Given the description of an element on the screen output the (x, y) to click on. 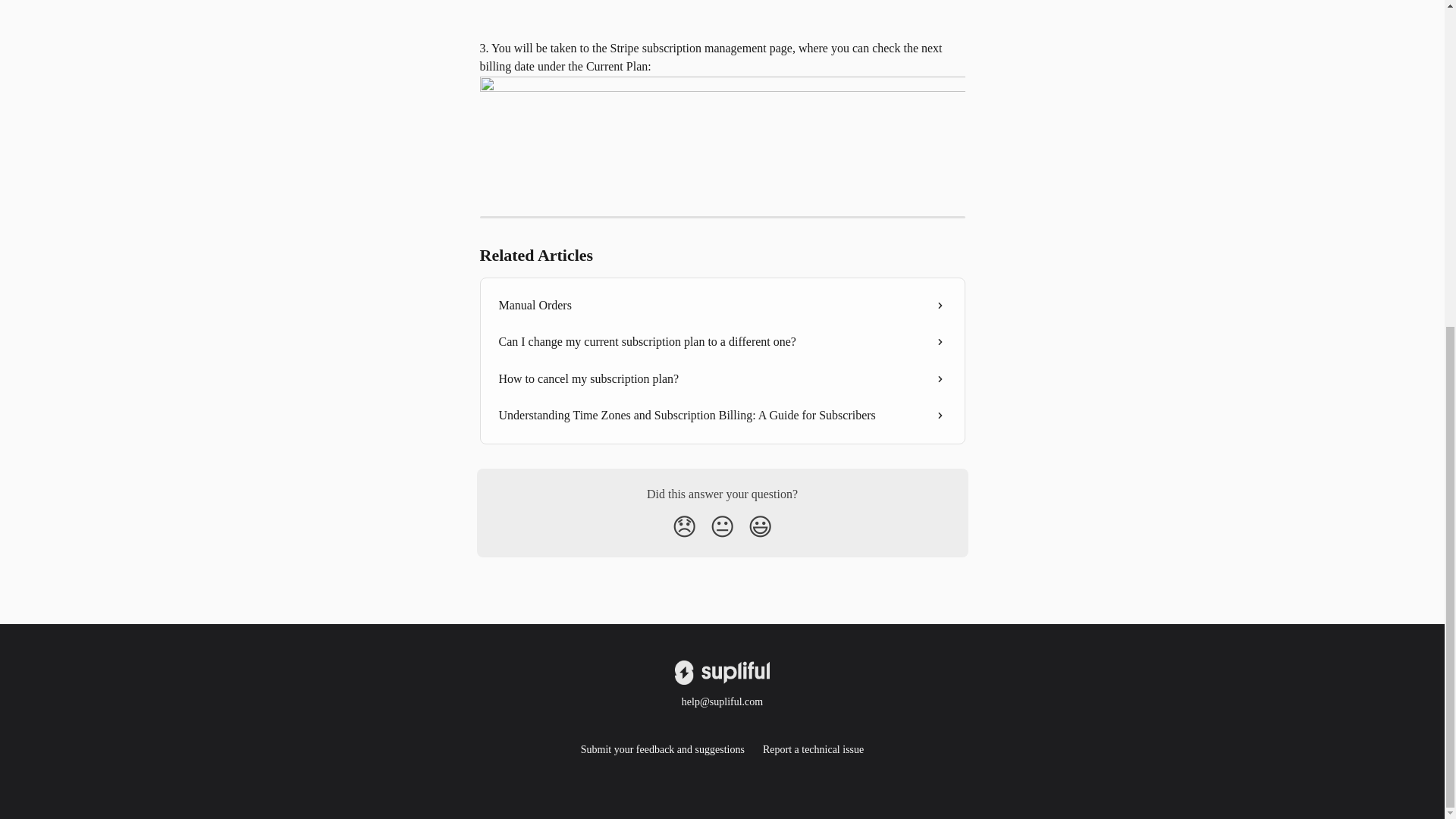
Submit your feedback and suggestions (662, 749)
Smiley (760, 526)
How to cancel my subscription plan? (722, 379)
Report a technical issue (812, 749)
Disappointed (684, 526)
Manual Orders (722, 305)
Neutral (722, 526)
